Given the description of an element on the screen output the (x, y) to click on. 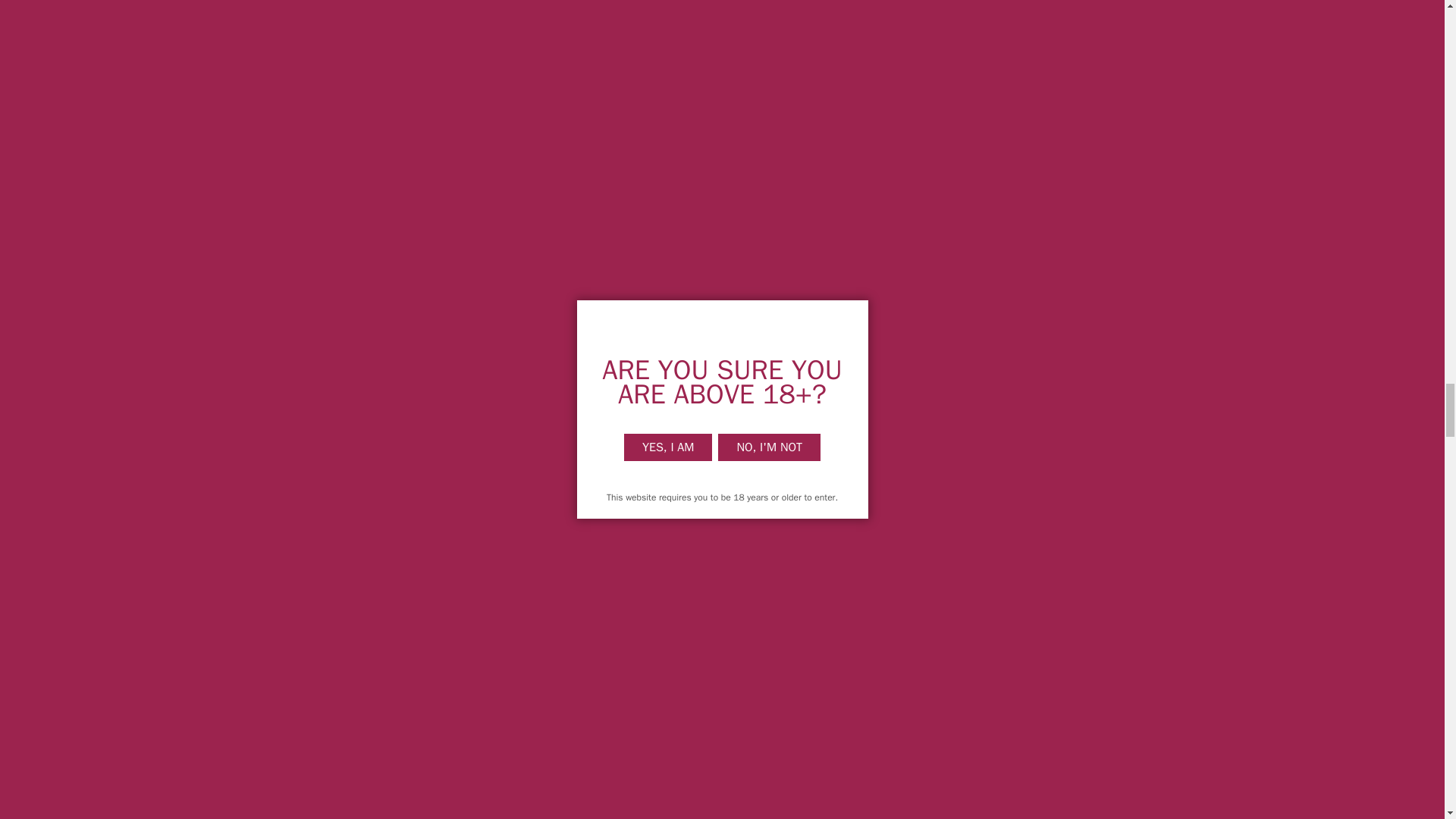
3rd party ad content (577, 125)
